Given the description of an element on the screen output the (x, y) to click on. 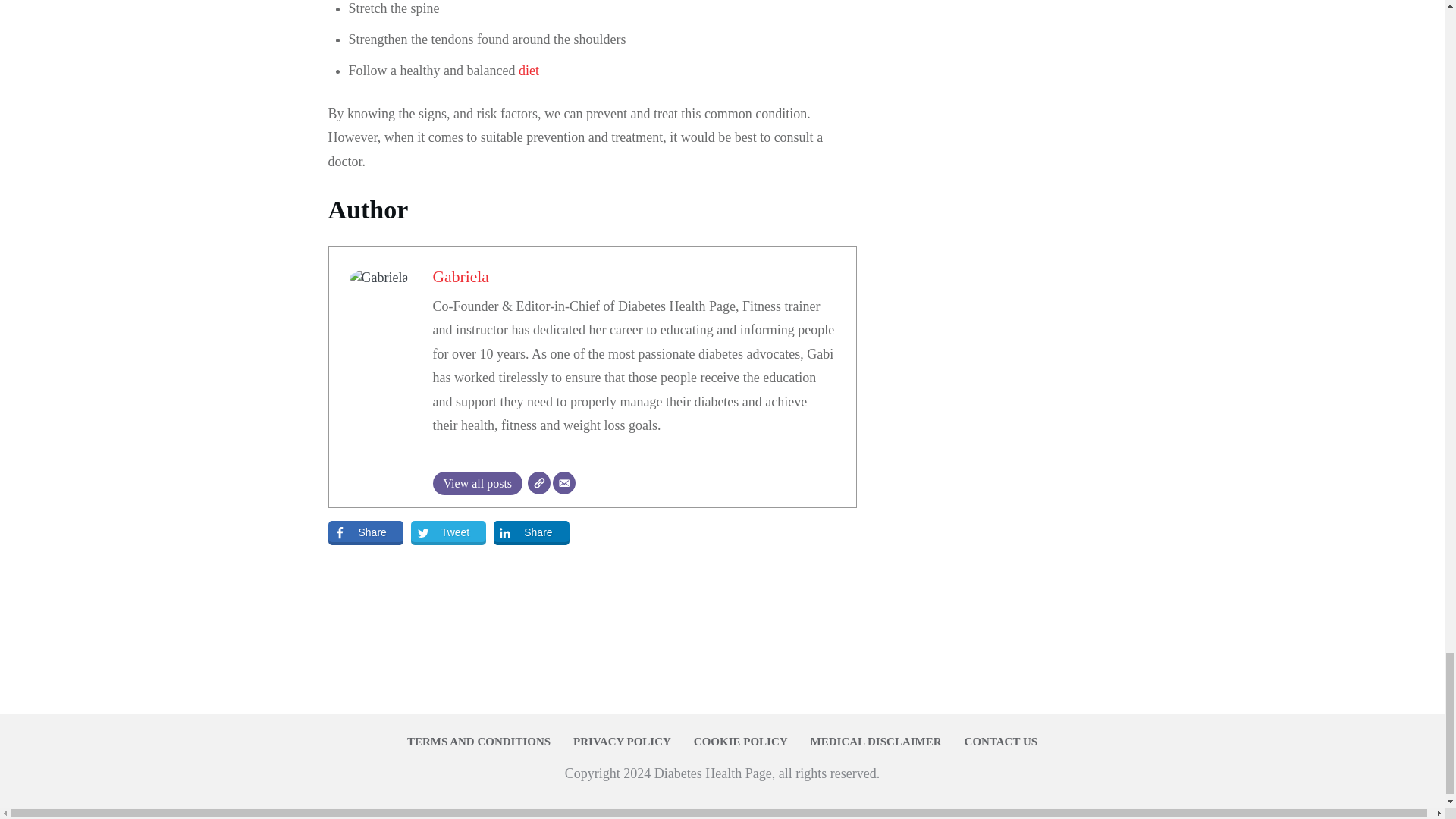
View all posts (477, 483)
Share (365, 532)
diet (528, 70)
Gabriela (459, 276)
Share (531, 532)
Gabriela (459, 276)
View all posts (477, 483)
Tweet (448, 532)
